Given the description of an element on the screen output the (x, y) to click on. 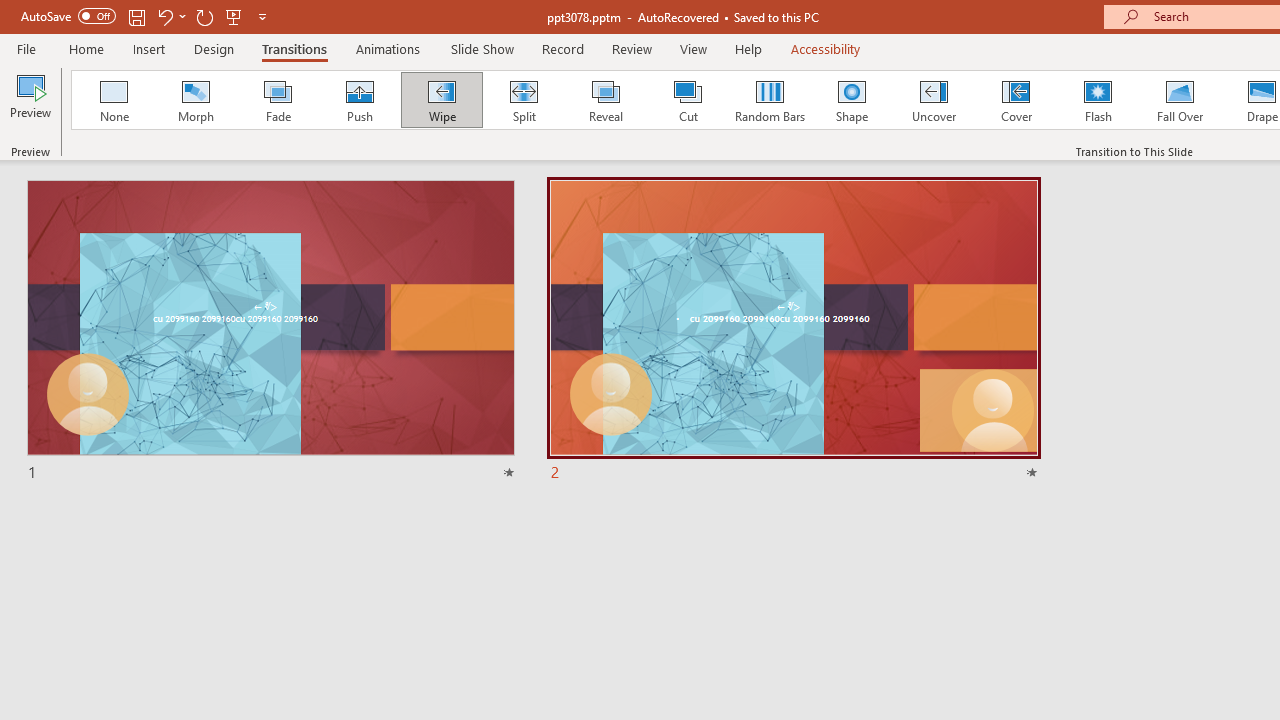
Reveal (605, 100)
Flash (1098, 100)
Morph (195, 100)
